Given the description of an element on the screen output the (x, y) to click on. 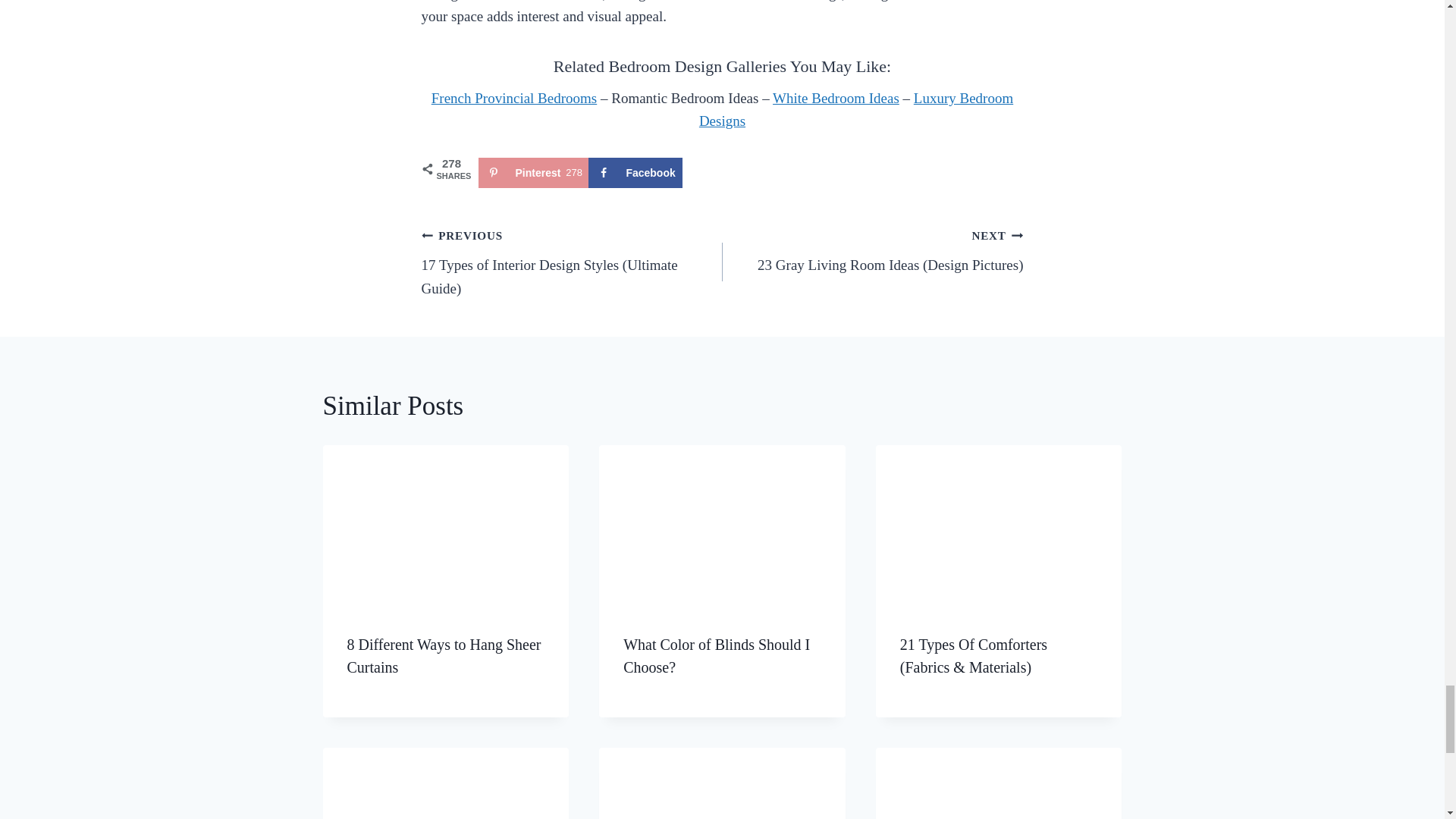
Save to Pinterest (532, 173)
